Given the description of an element on the screen output the (x, y) to click on. 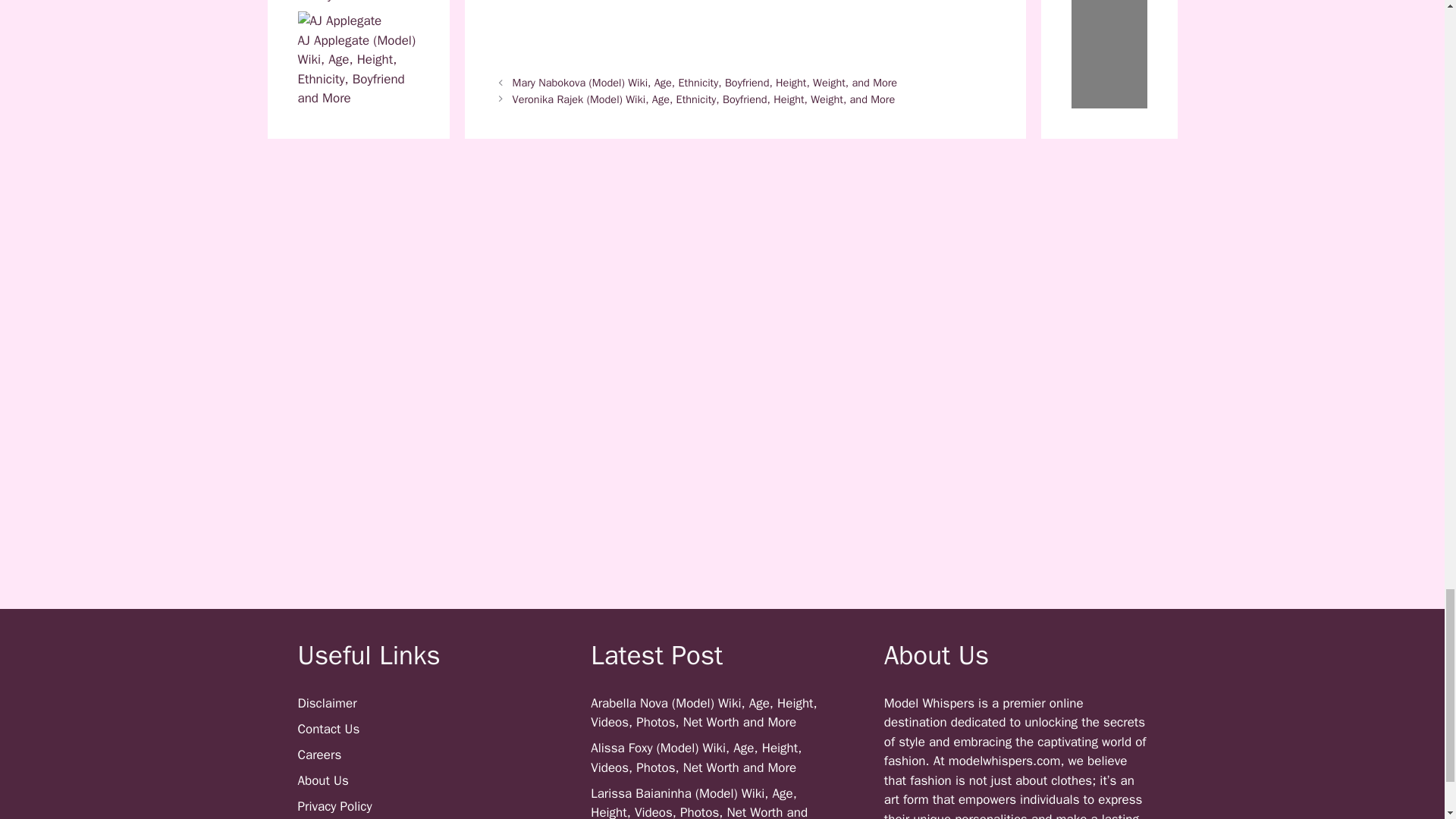
Careers (318, 754)
Disclaimer (326, 703)
Privacy Policy (334, 806)
Contact Us (328, 729)
About Us (322, 780)
